Given the description of an element on the screen output the (x, y) to click on. 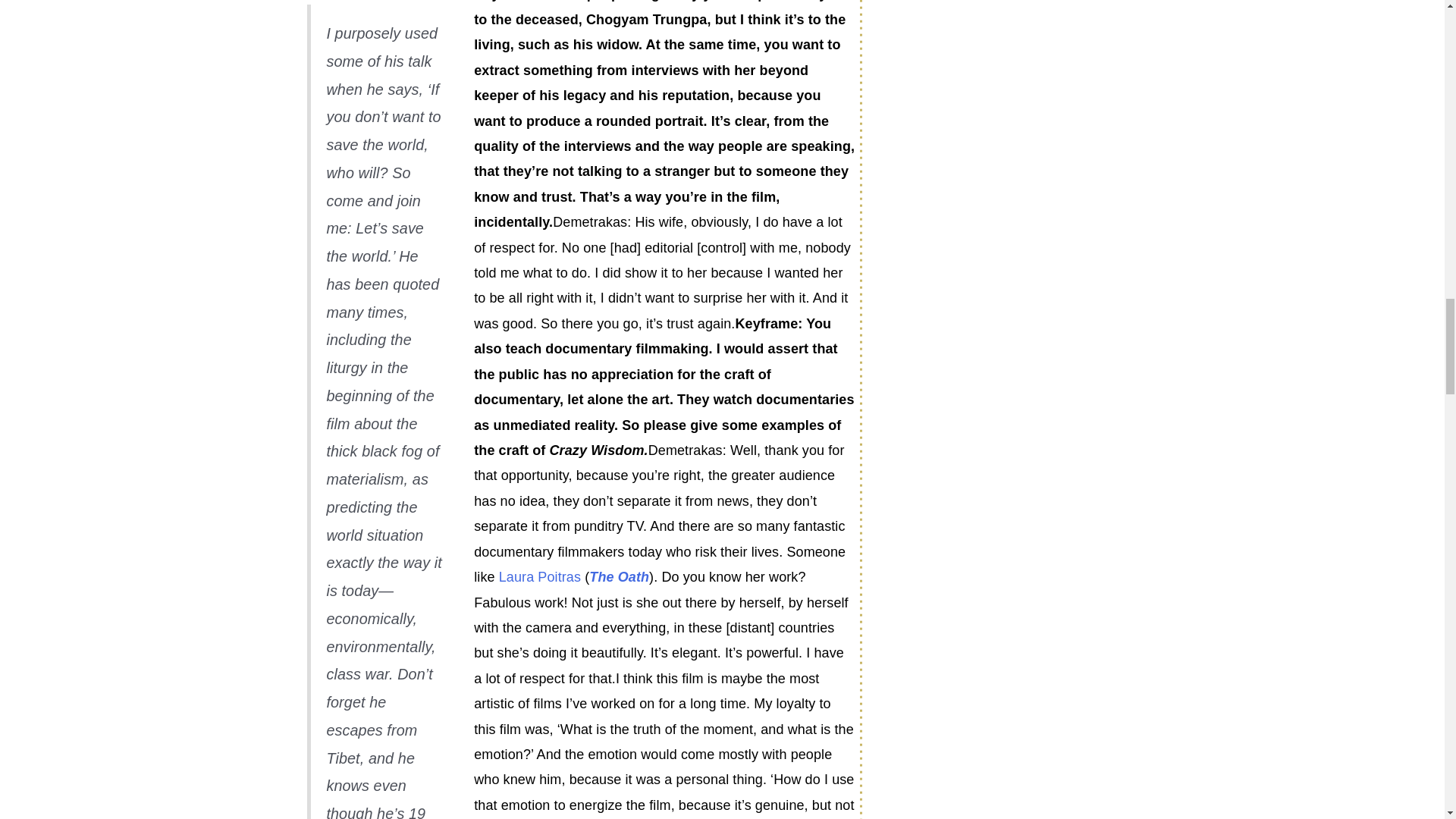
Watch LAURA POITRAS' THE OATH on Fandor. (619, 576)
Laura Poitras (539, 576)
Watch LAURA POITRAS films on Fandor. (539, 576)
The Oath (619, 576)
